Given the description of an element on the screen output the (x, y) to click on. 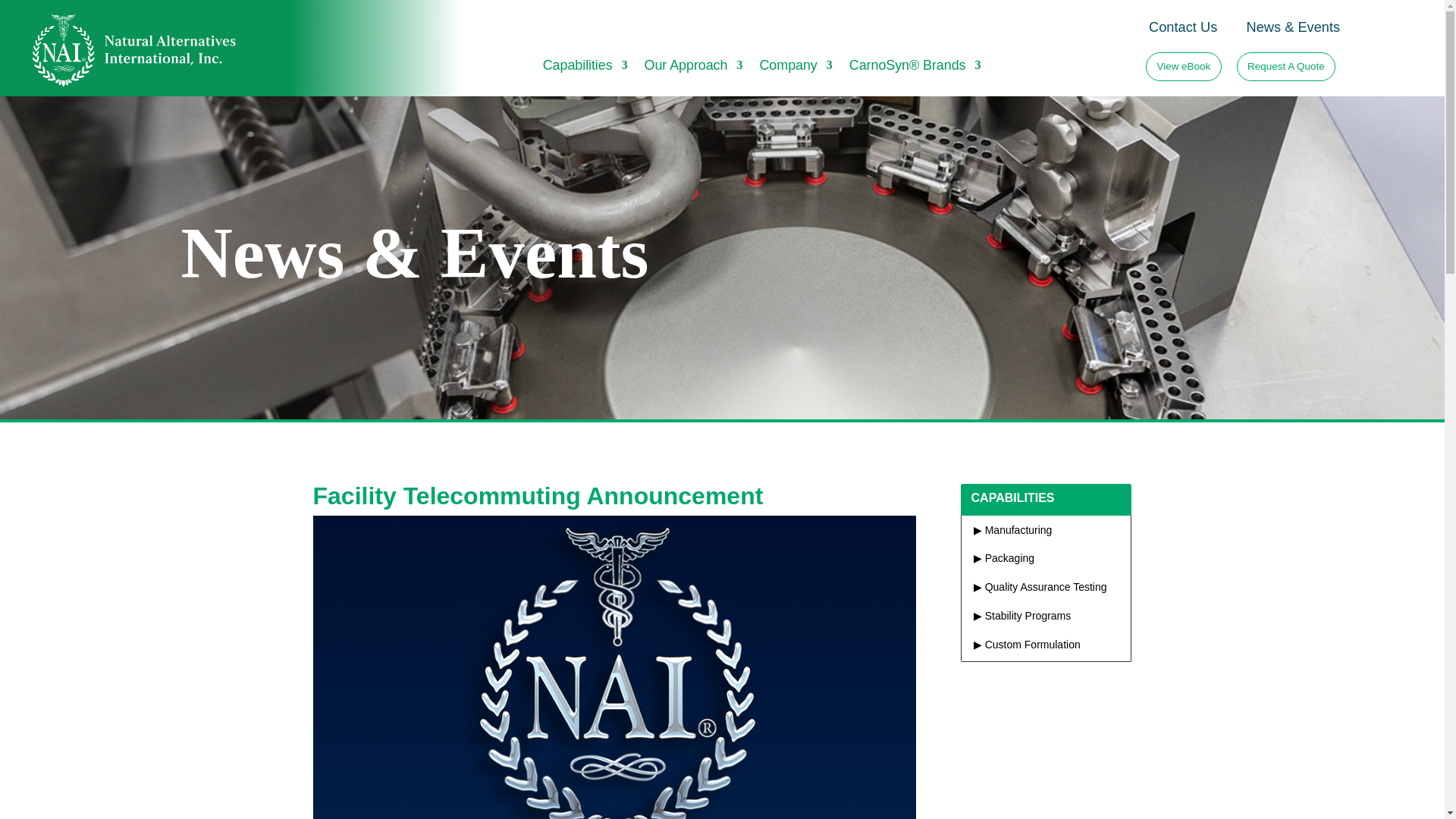
Capabilities (585, 67)
Company (794, 67)
nai-online (136, 50)
Our Approach (693, 67)
